Given the description of an element on the screen output the (x, y) to click on. 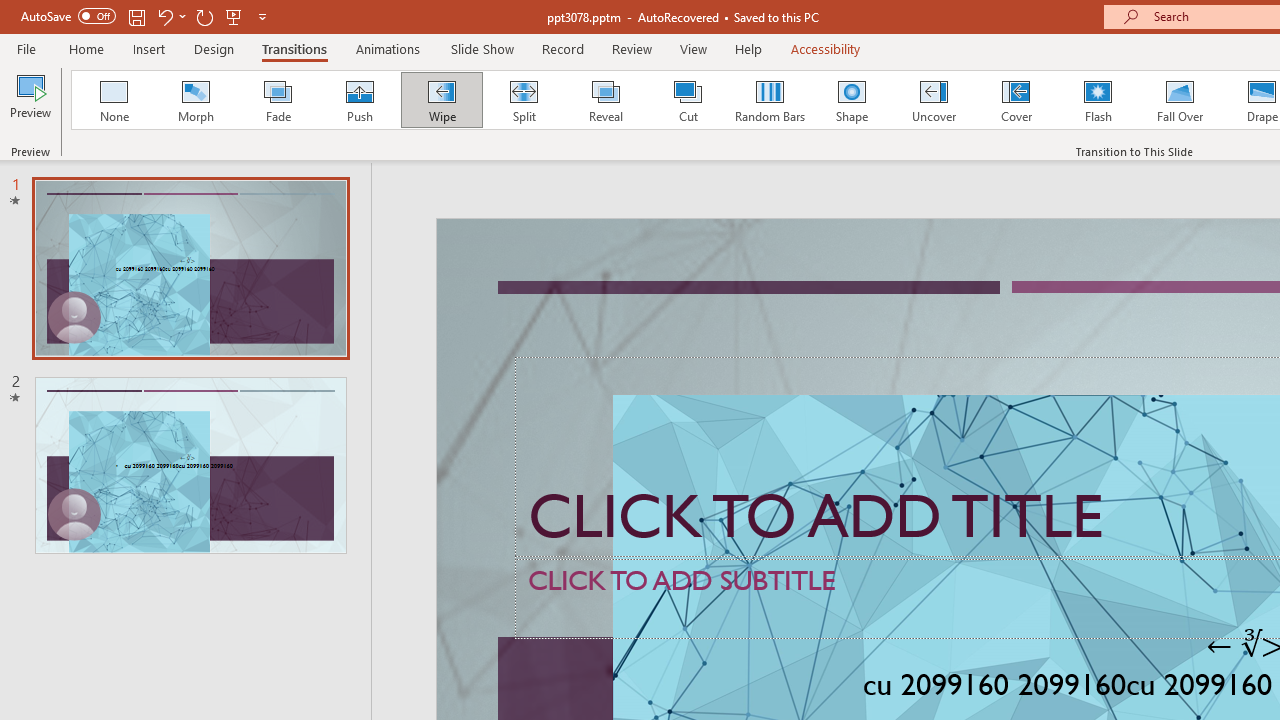
Flash (1098, 100)
Morph (195, 100)
Uncover (934, 100)
